Given the description of an element on the screen output the (x, y) to click on. 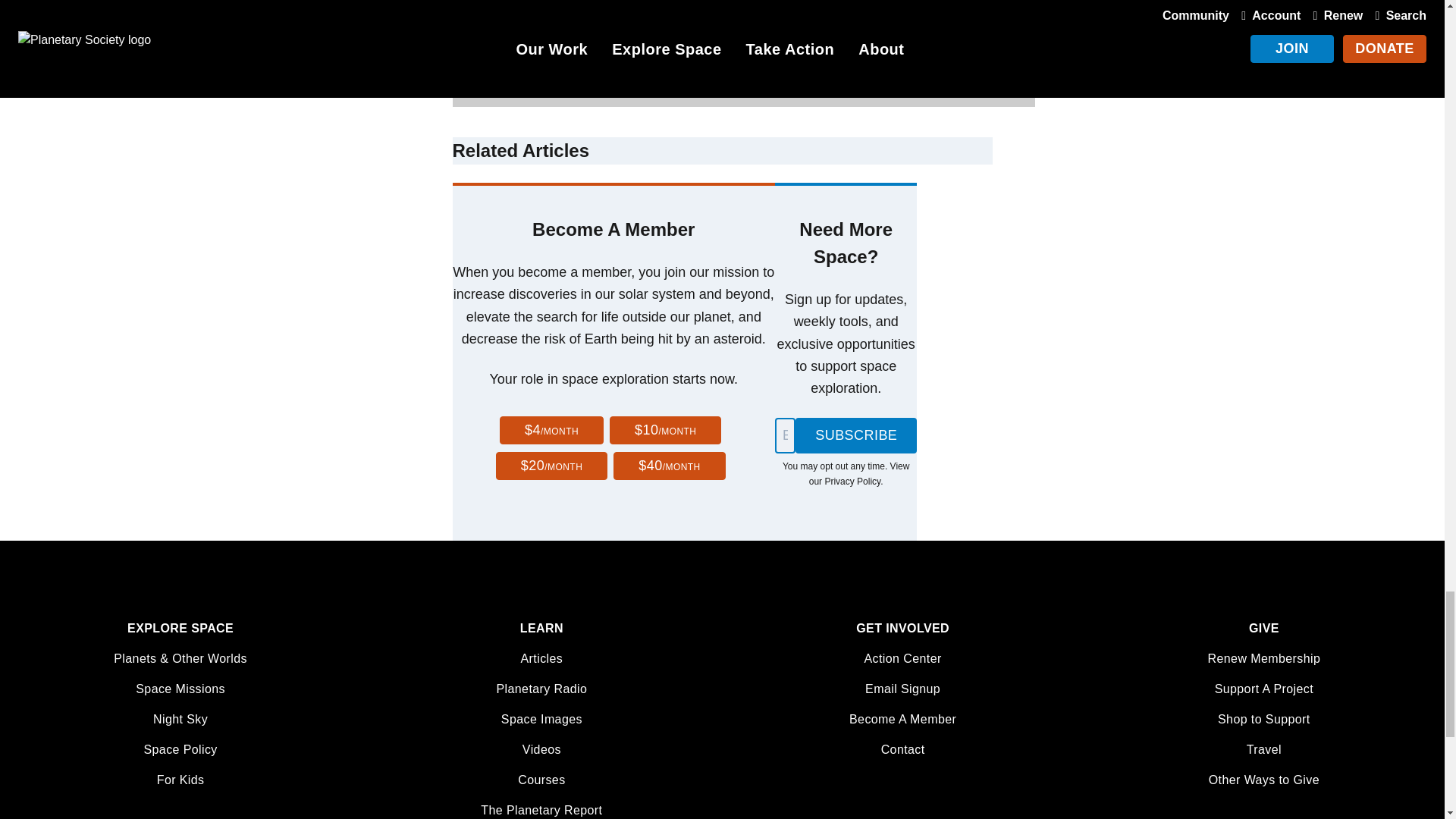
Subscribe (855, 435)
